Given the description of an element on the screen output the (x, y) to click on. 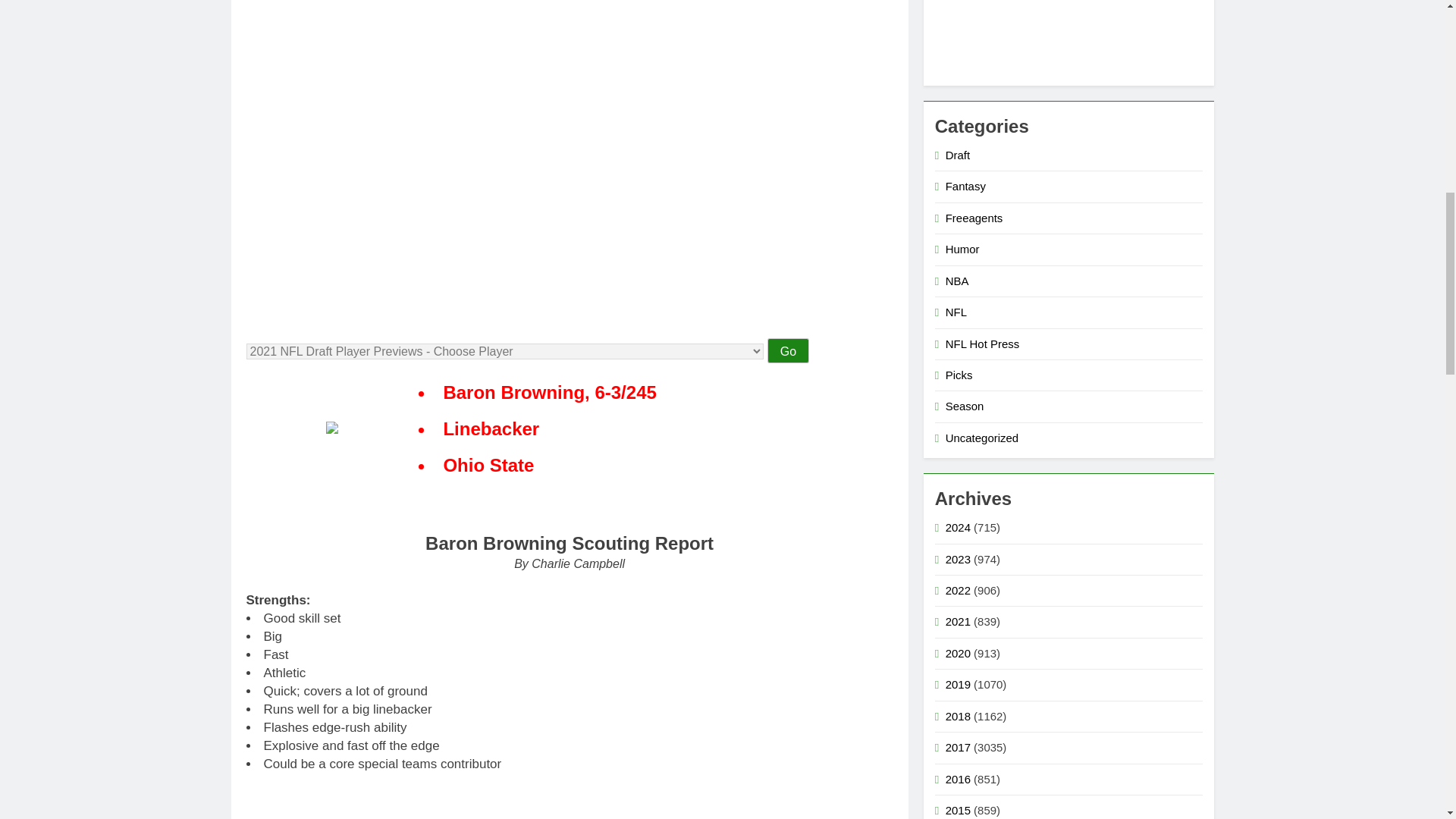
Go (788, 350)
